Given the description of an element on the screen output the (x, y) to click on. 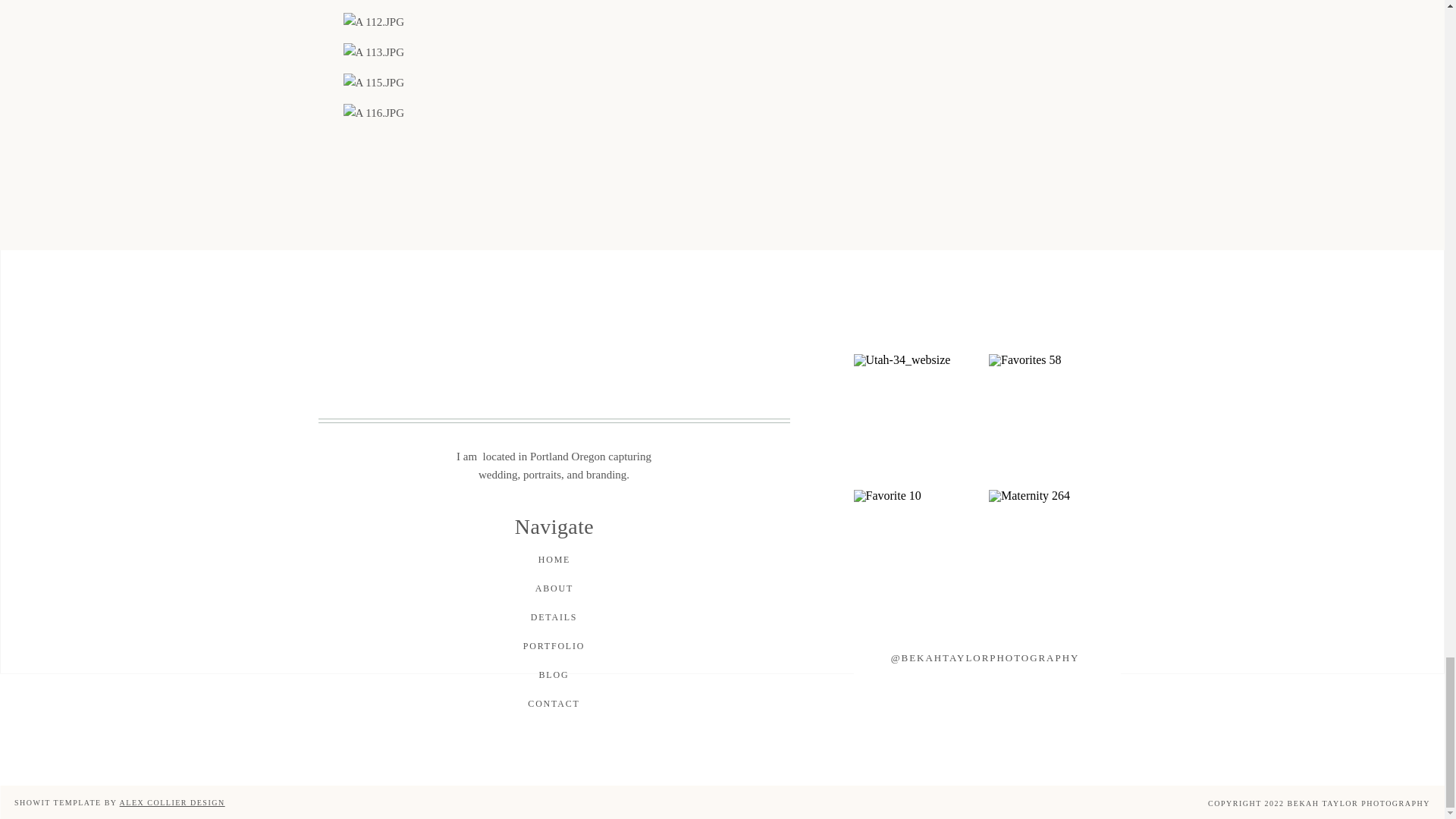
DETAILS (553, 618)
Favorites 58 (1054, 419)
HOME (553, 560)
ABOUT (553, 589)
Maternity 264 (1054, 555)
CONTACT (553, 704)
ALEX COLLIER DESIGN (172, 802)
BLOG (554, 675)
PORTFOLIO (552, 647)
Favorite 10 (919, 555)
